Given the description of an element on the screen output the (x, y) to click on. 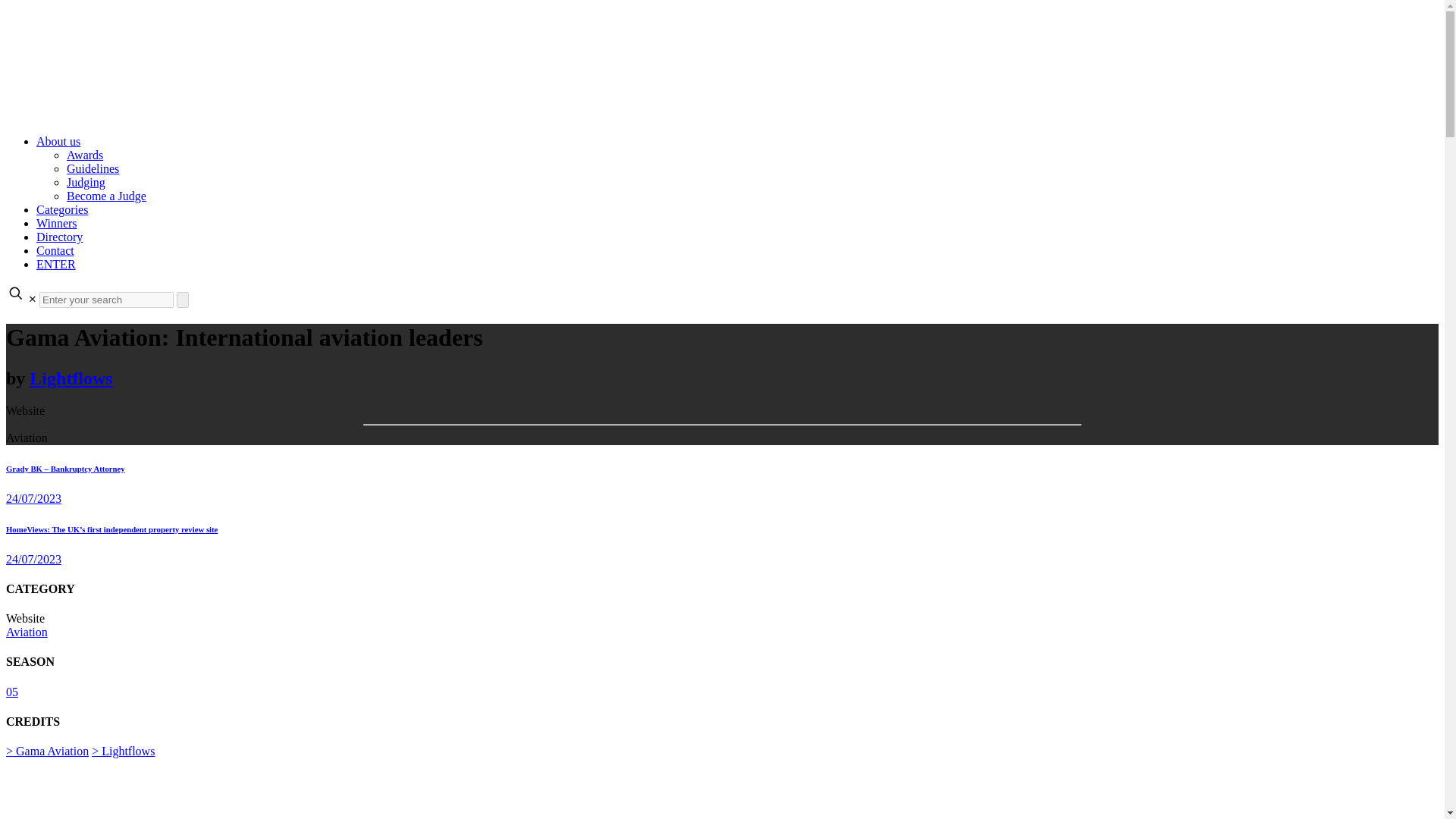
Directory (59, 236)
Become a Judge (106, 195)
Web Excellence Awards (460, 115)
Contact (55, 250)
Judging (85, 182)
ENTER (55, 264)
enter-menu (55, 264)
About us (58, 141)
Awards (84, 154)
Guidelines (92, 168)
05 (11, 691)
Winners (56, 223)
Aviation (26, 631)
Categories (61, 209)
Lightflows (70, 378)
